Given the description of an element on the screen output the (x, y) to click on. 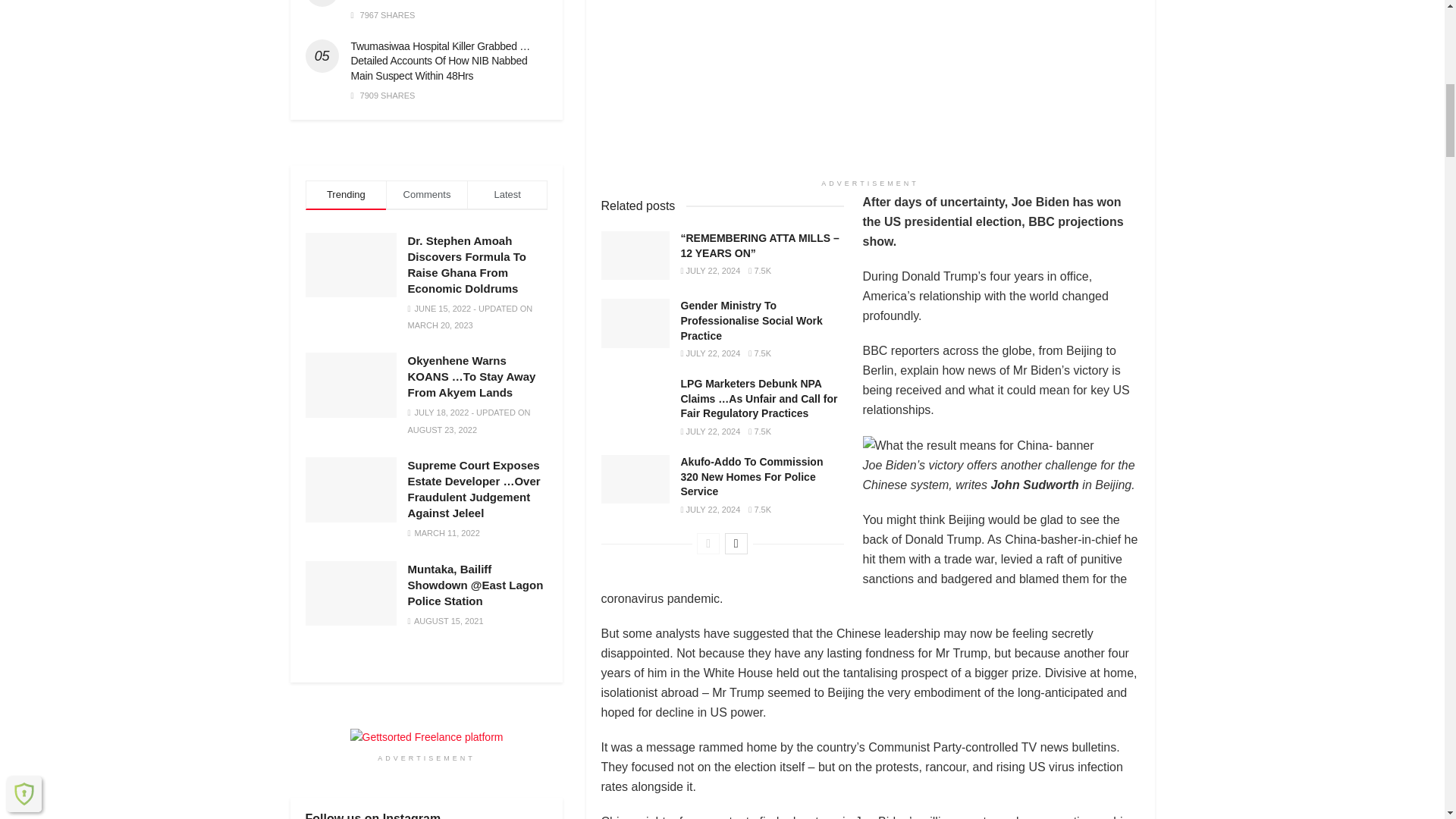
Next (736, 543)
Advertisement (868, 85)
Previous (708, 543)
